Given the description of an element on the screen output the (x, y) to click on. 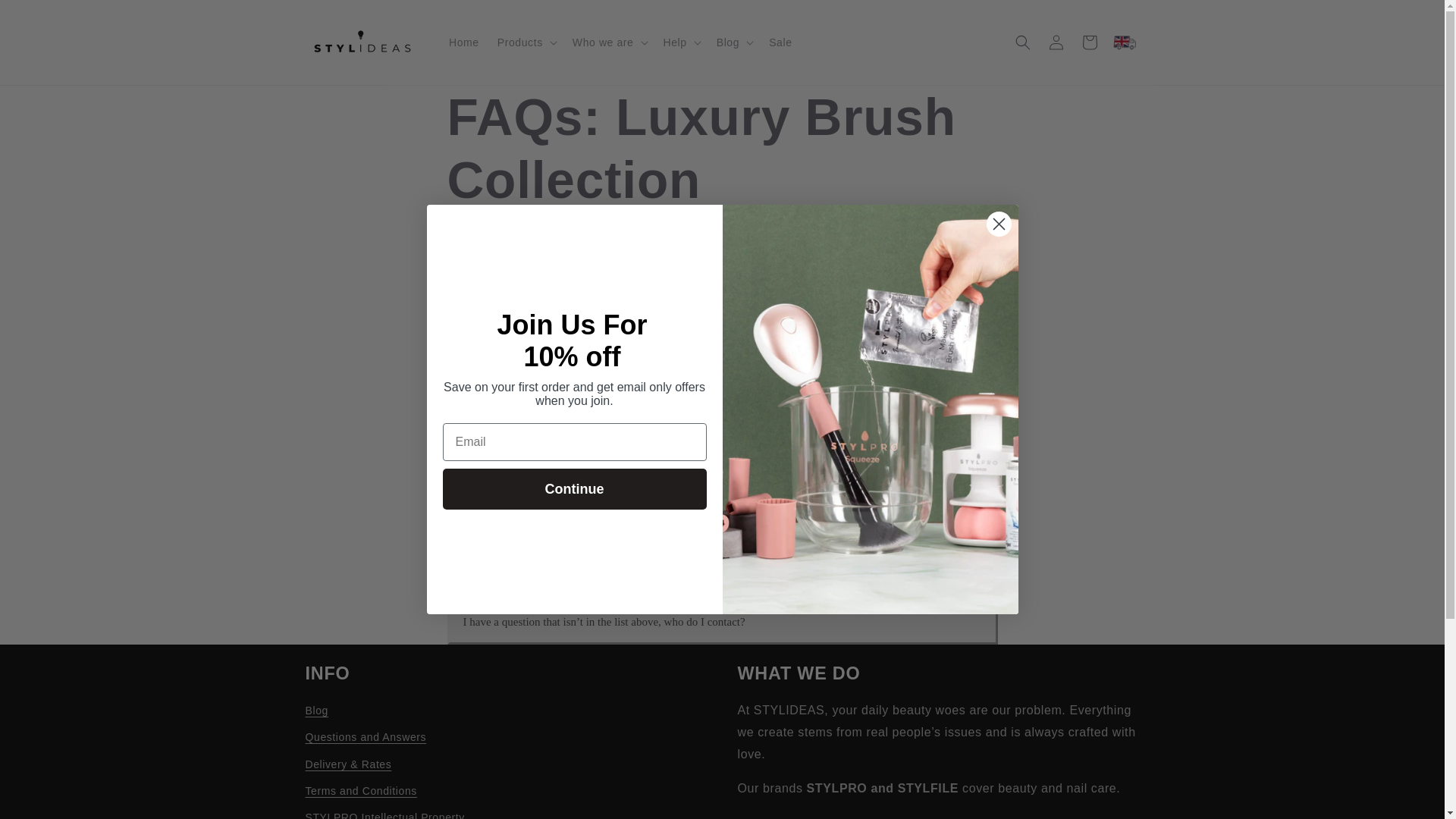
Home (463, 42)
Skip to content (45, 16)
